Given the description of an element on the screen output the (x, y) to click on. 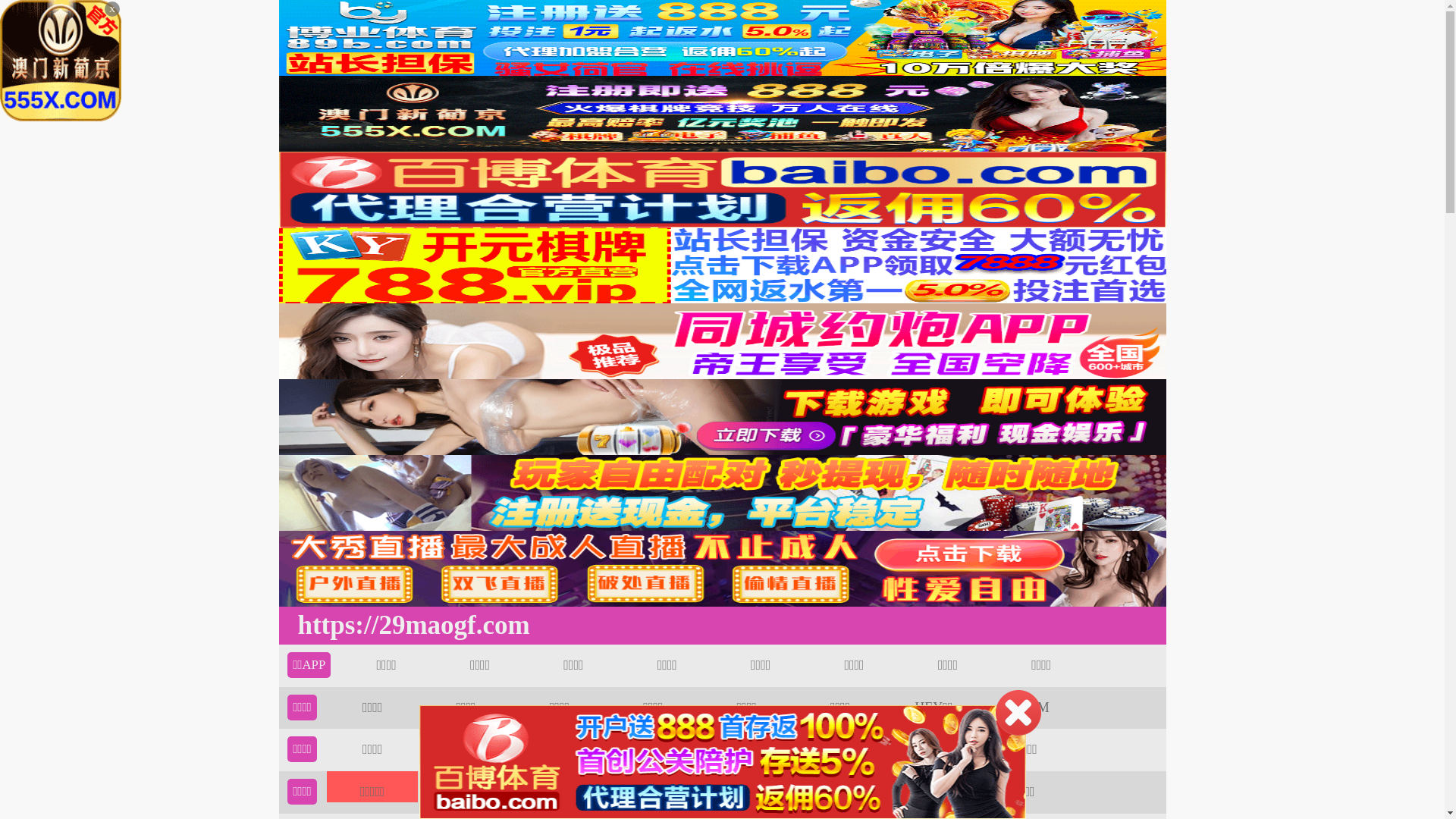
HEYZO Element type: text (840, 748)
https://29maogf.com Element type: text (409, 625)
